Given the description of an element on the screen output the (x, y) to click on. 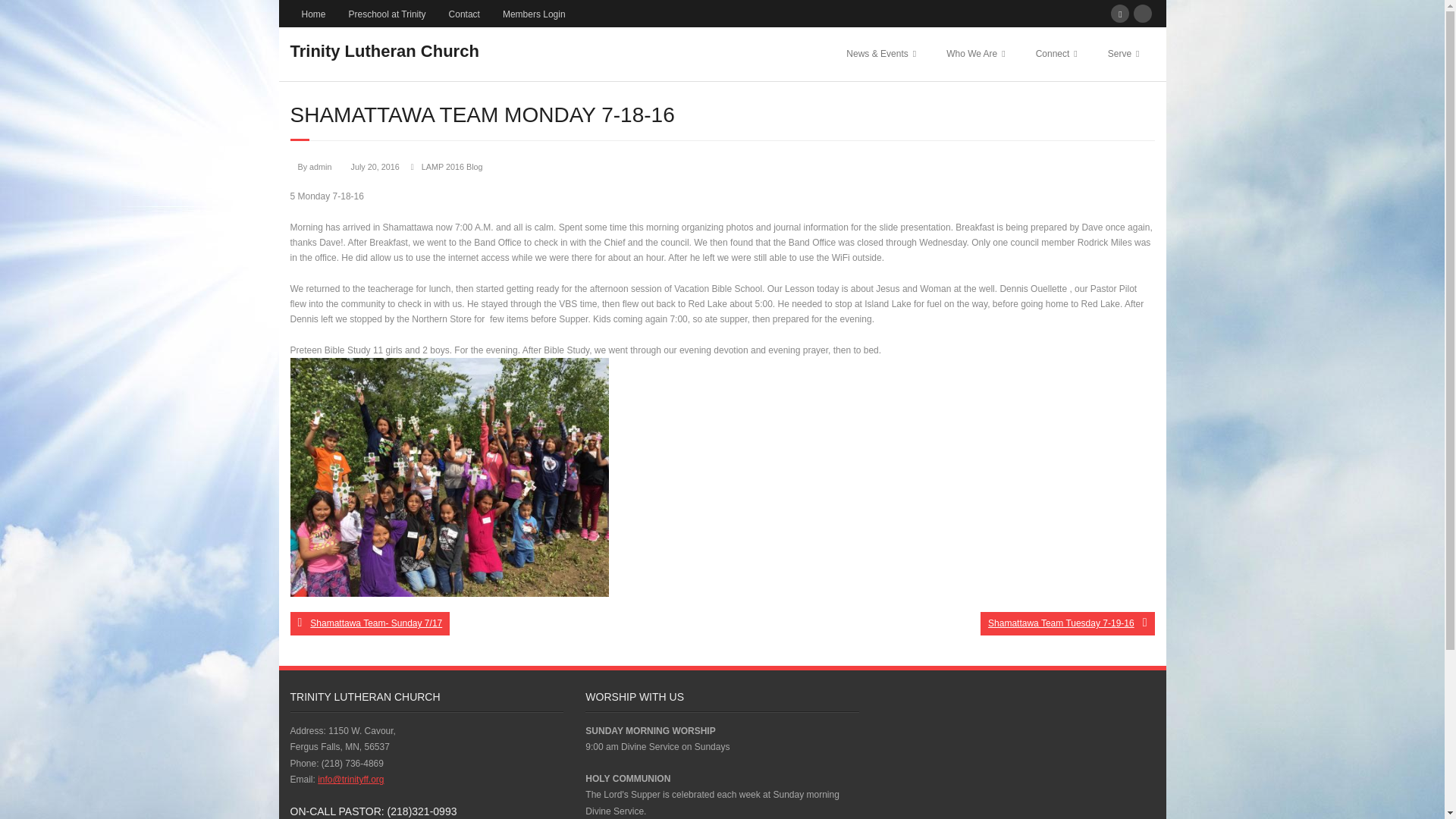
Contact (465, 13)
Connect (1056, 53)
Shamattawa Team Monday 7-18-16 (374, 166)
Who We Are (975, 53)
Preschool at Trinity (387, 13)
Home (312, 13)
View all posts by admin (319, 166)
Trinity Lutheran Church (384, 49)
Serve (1123, 53)
Members Login (534, 13)
Trinity Lutheran Church (384, 50)
